Given the description of an element on the screen output the (x, y) to click on. 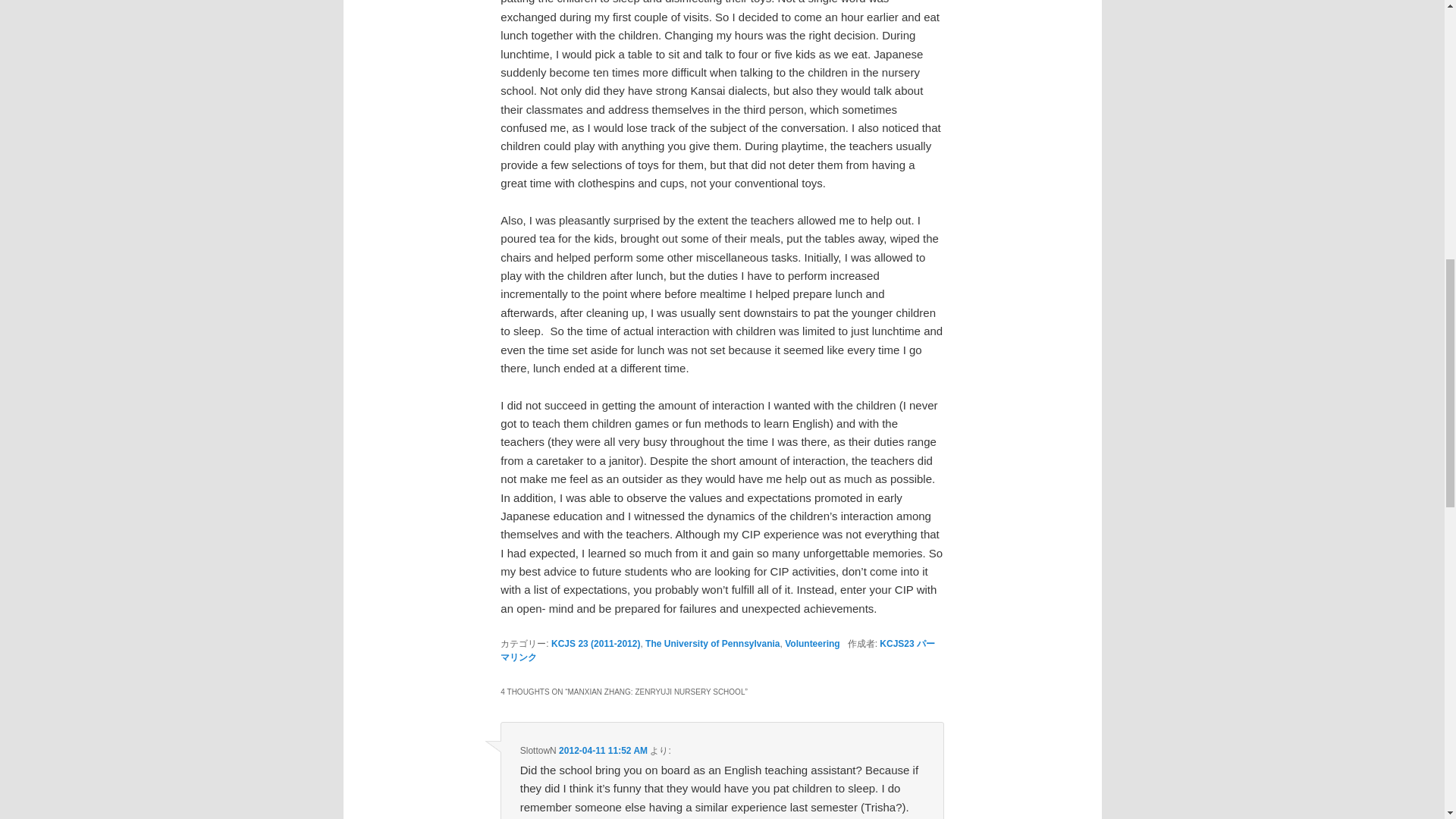
The University of Pennsylvania (711, 643)
Volunteering (812, 643)
KCJS23 (896, 643)
2012-04-11 11:52 AM (603, 750)
